Given the description of an element on the screen output the (x, y) to click on. 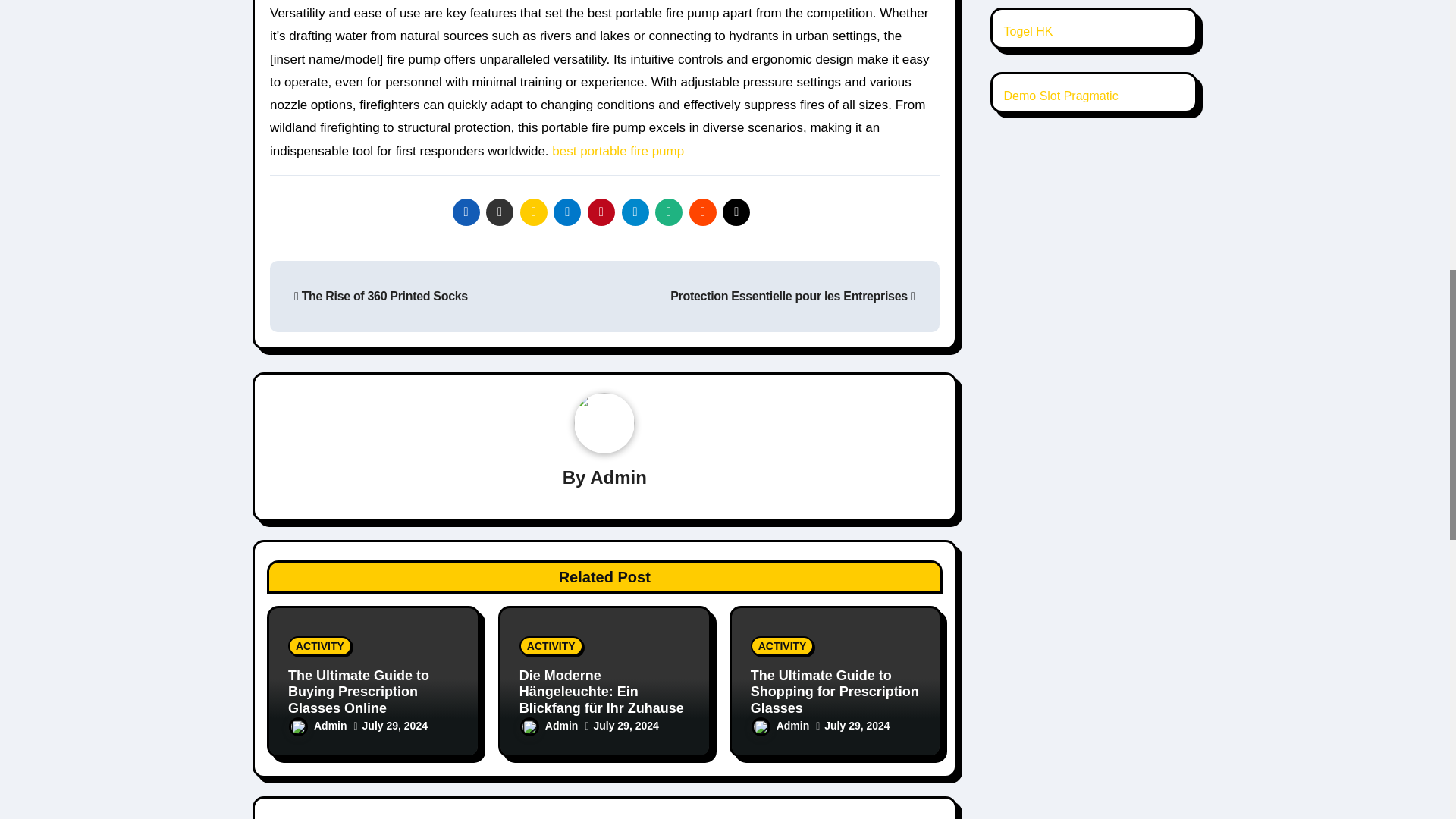
best portable fire pump (617, 151)
